Given the description of an element on the screen output the (x, y) to click on. 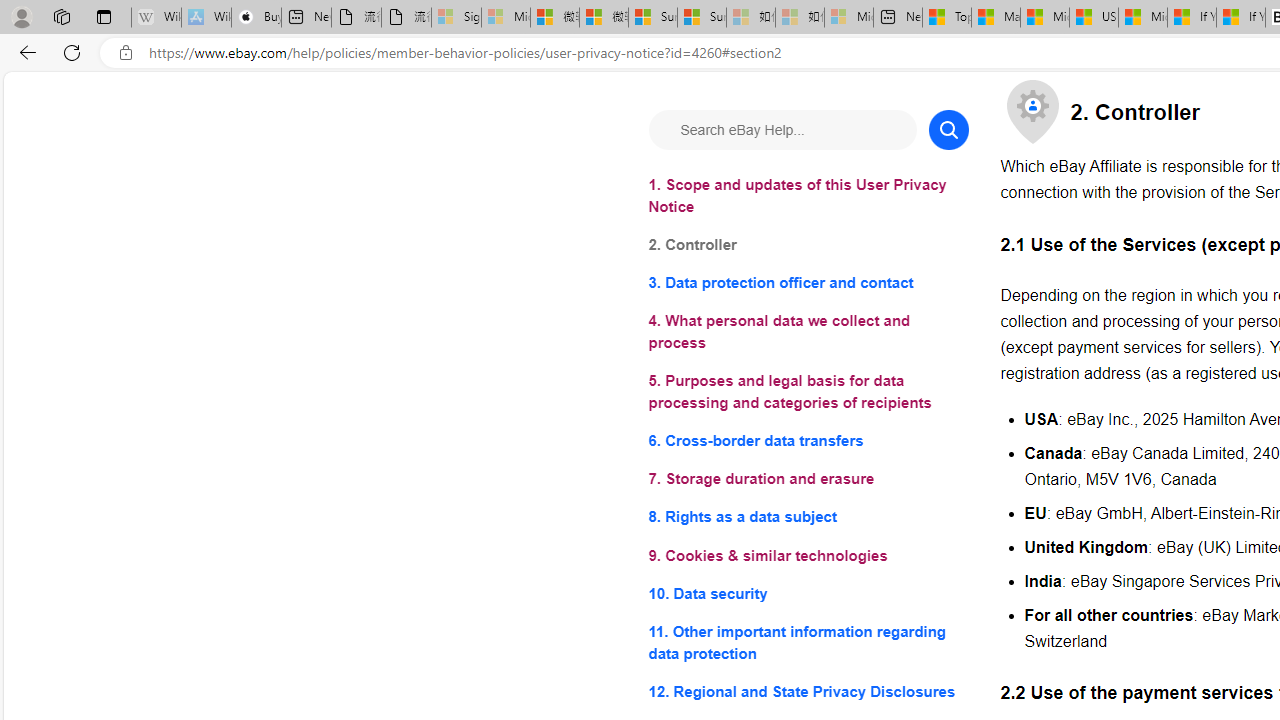
Marine life - MSN (995, 17)
4. What personal data we collect and process (807, 332)
Sign in to your Microsoft account - Sleeping (456, 17)
8. Rights as a data subject (807, 517)
1. Scope and updates of this User Privacy Notice (807, 196)
10. Data security (807, 592)
6. Cross-border data transfers (807, 440)
8. Rights as a data subject (807, 517)
